Given the description of an element on the screen output the (x, y) to click on. 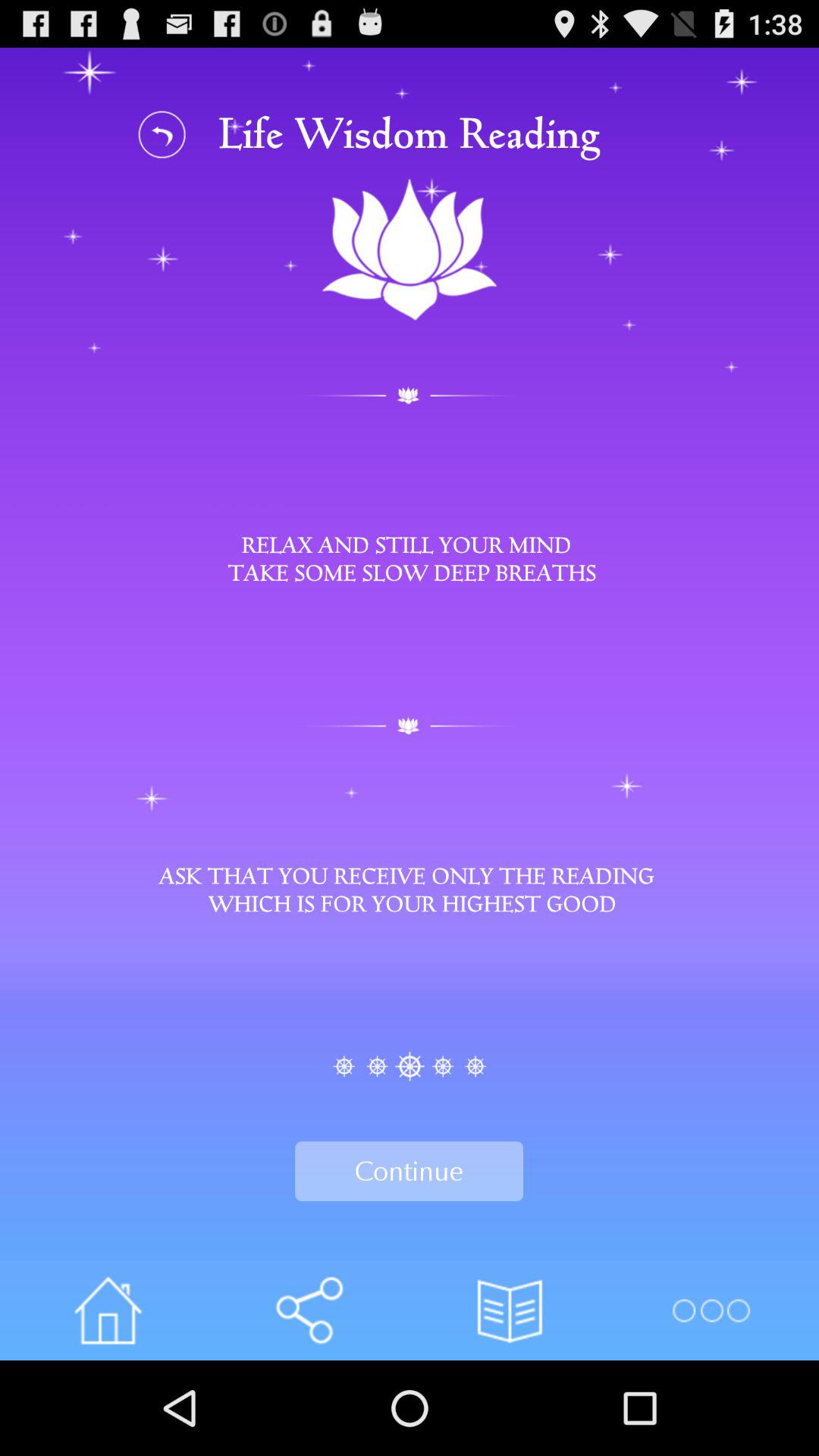
more options (710, 1310)
